Given the description of an element on the screen output the (x, y) to click on. 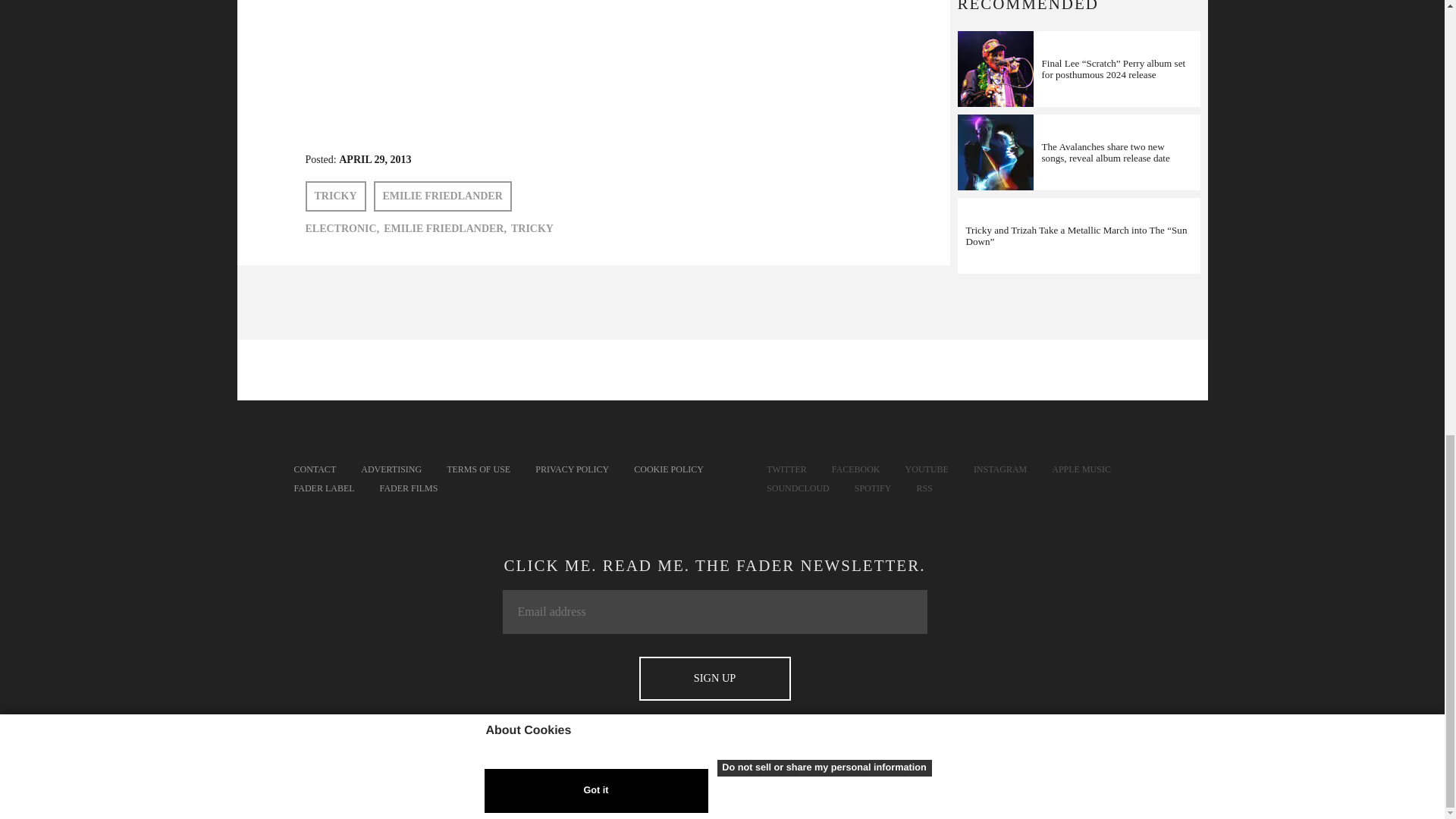
Sign Up (714, 678)
